Given the description of an element on the screen output the (x, y) to click on. 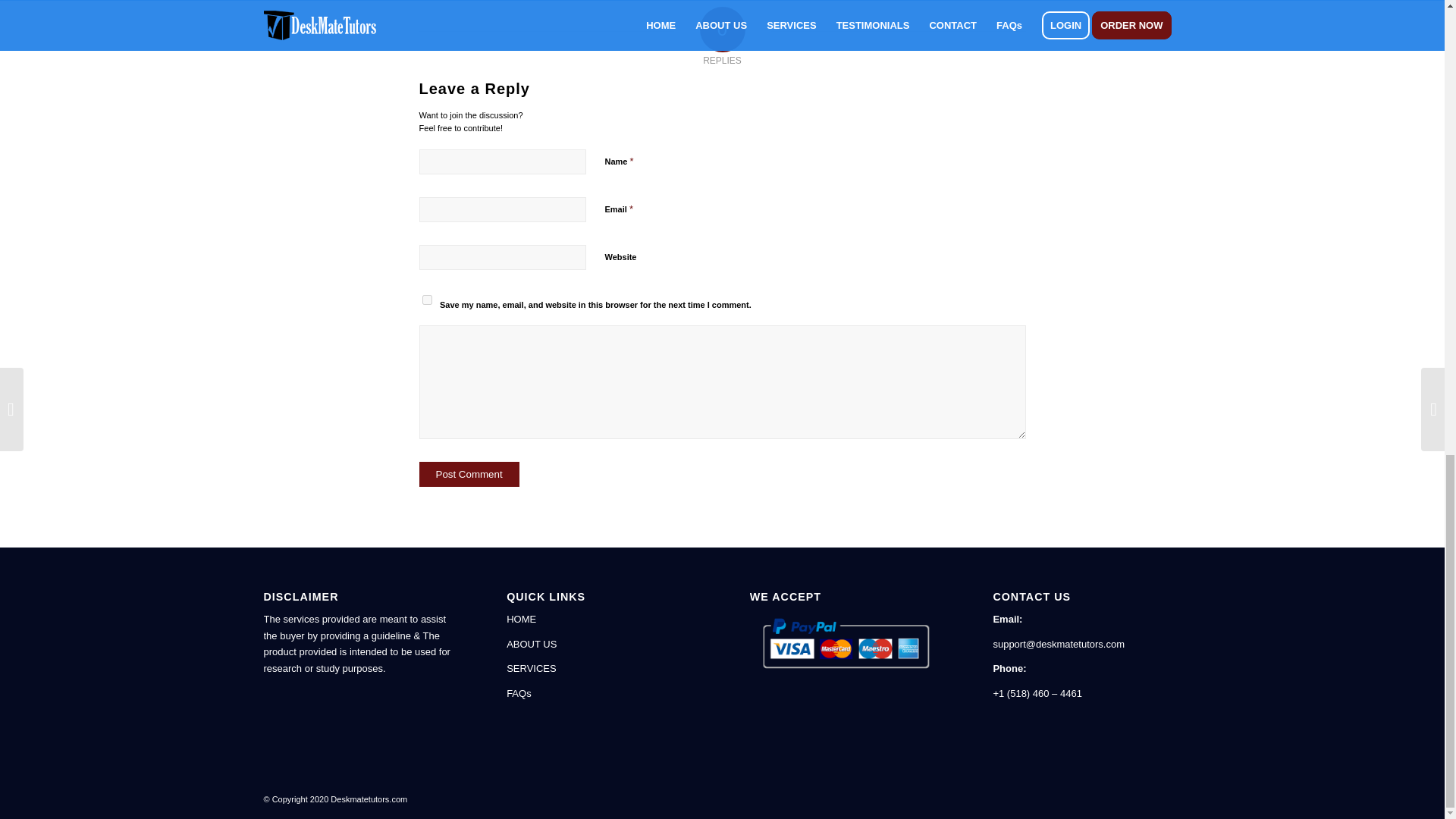
ABOUT US (531, 644)
FAQs (518, 693)
Post Comment (468, 473)
yes (426, 299)
HOME (520, 618)
Post Comment (468, 473)
SERVICES (531, 668)
